Given the description of an element on the screen output the (x, y) to click on. 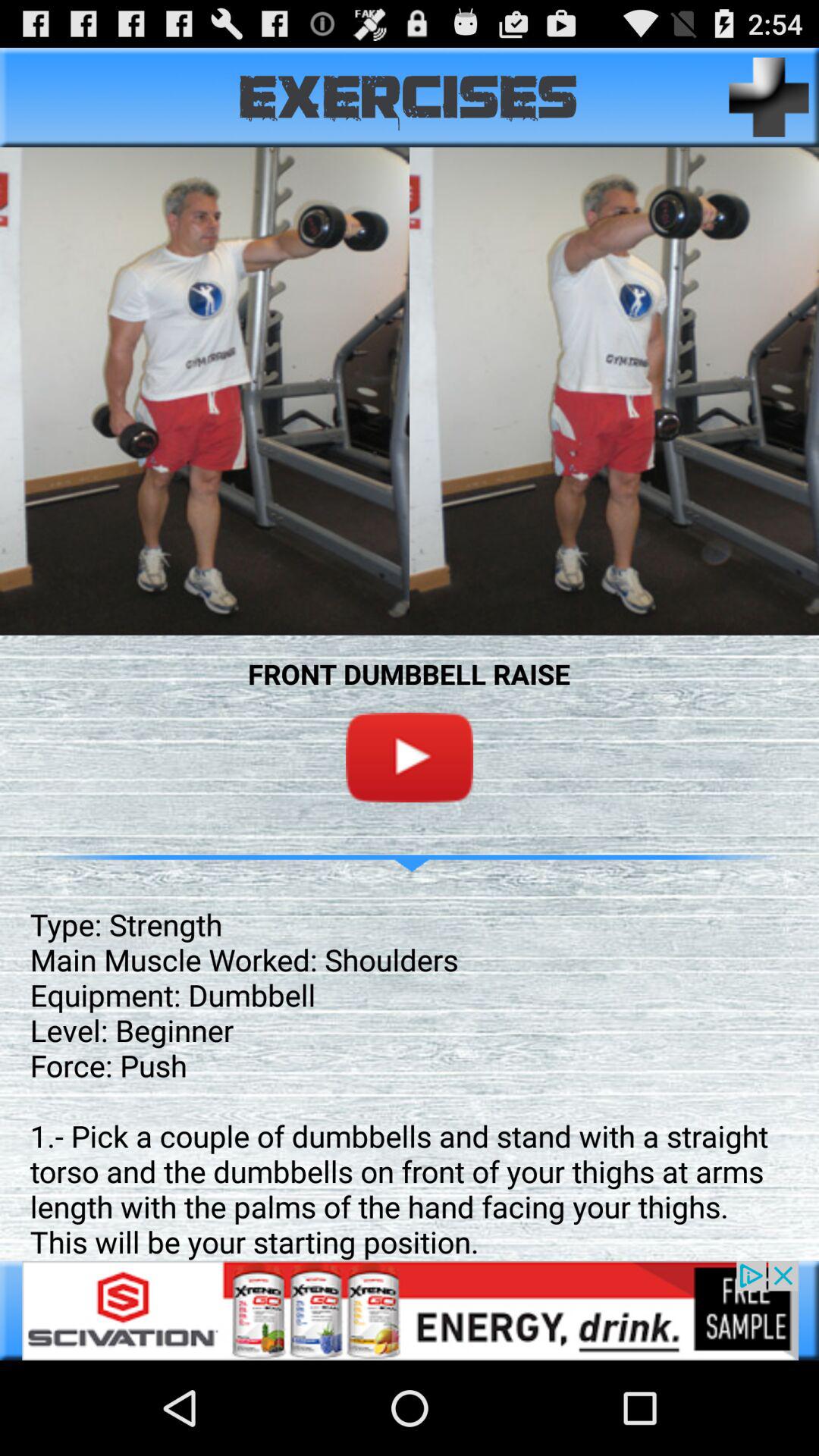
go to stop (409, 757)
